Given the description of an element on the screen output the (x, y) to click on. 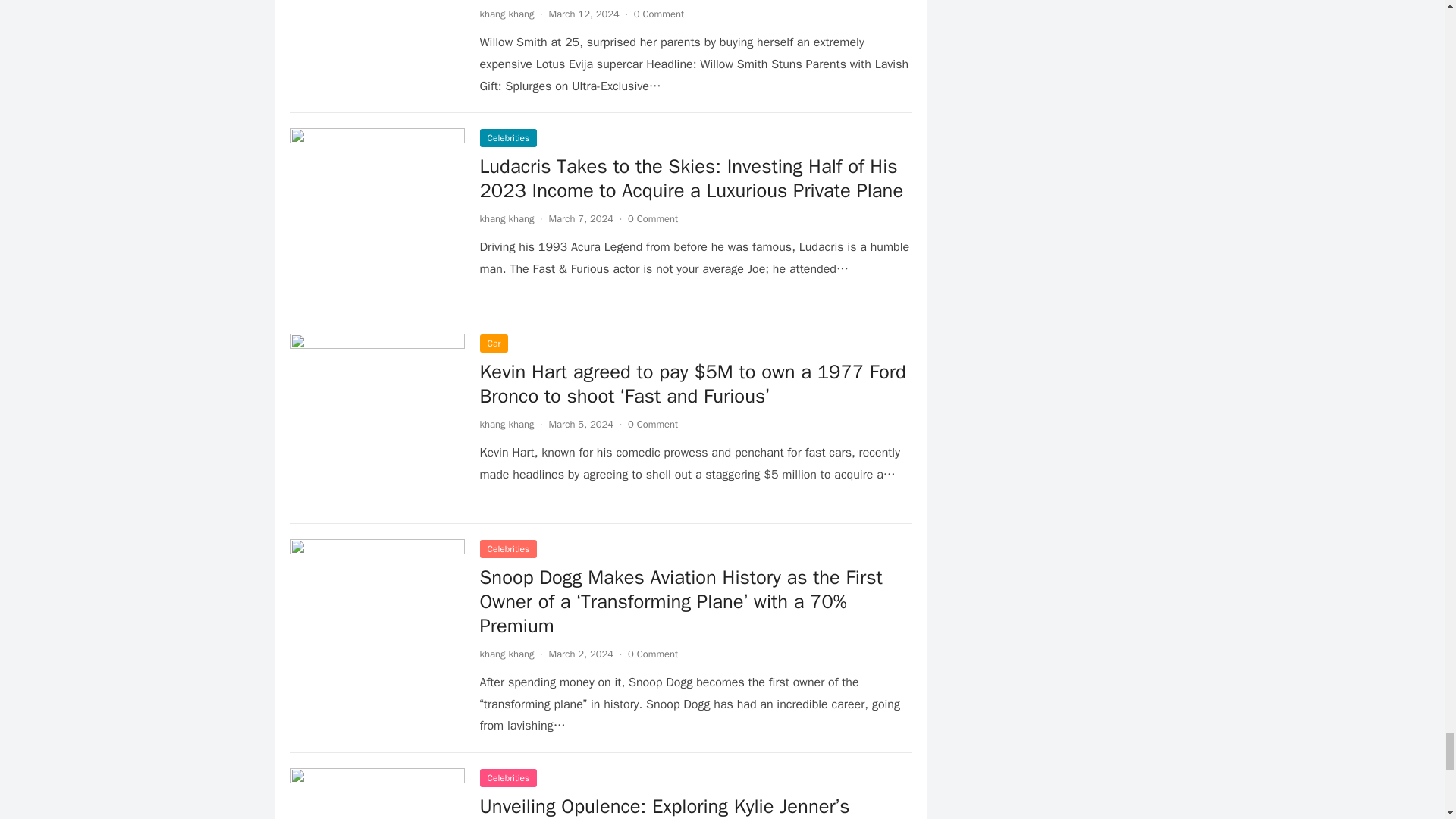
Posts by khang khang (506, 423)
Posts by khang khang (506, 13)
Posts by khang khang (506, 218)
khang khang (506, 218)
0 Comment (658, 13)
Posts by khang khang (506, 653)
khang khang (506, 13)
Celebrities (508, 137)
Car (493, 343)
0 Comment (652, 218)
